Given the description of an element on the screen output the (x, y) to click on. 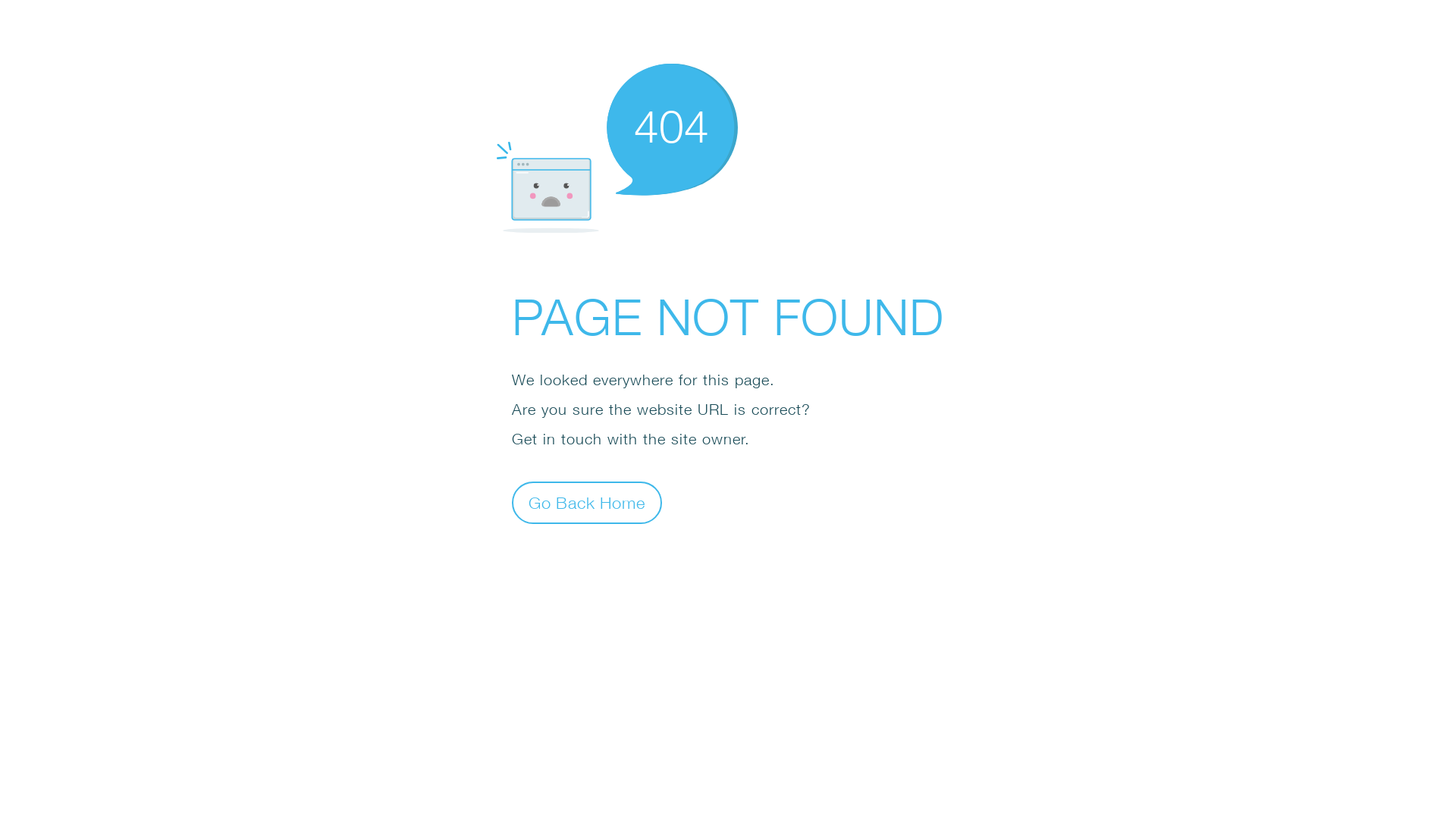
Go Back Home Element type: text (586, 502)
